Given the description of an element on the screen output the (x, y) to click on. 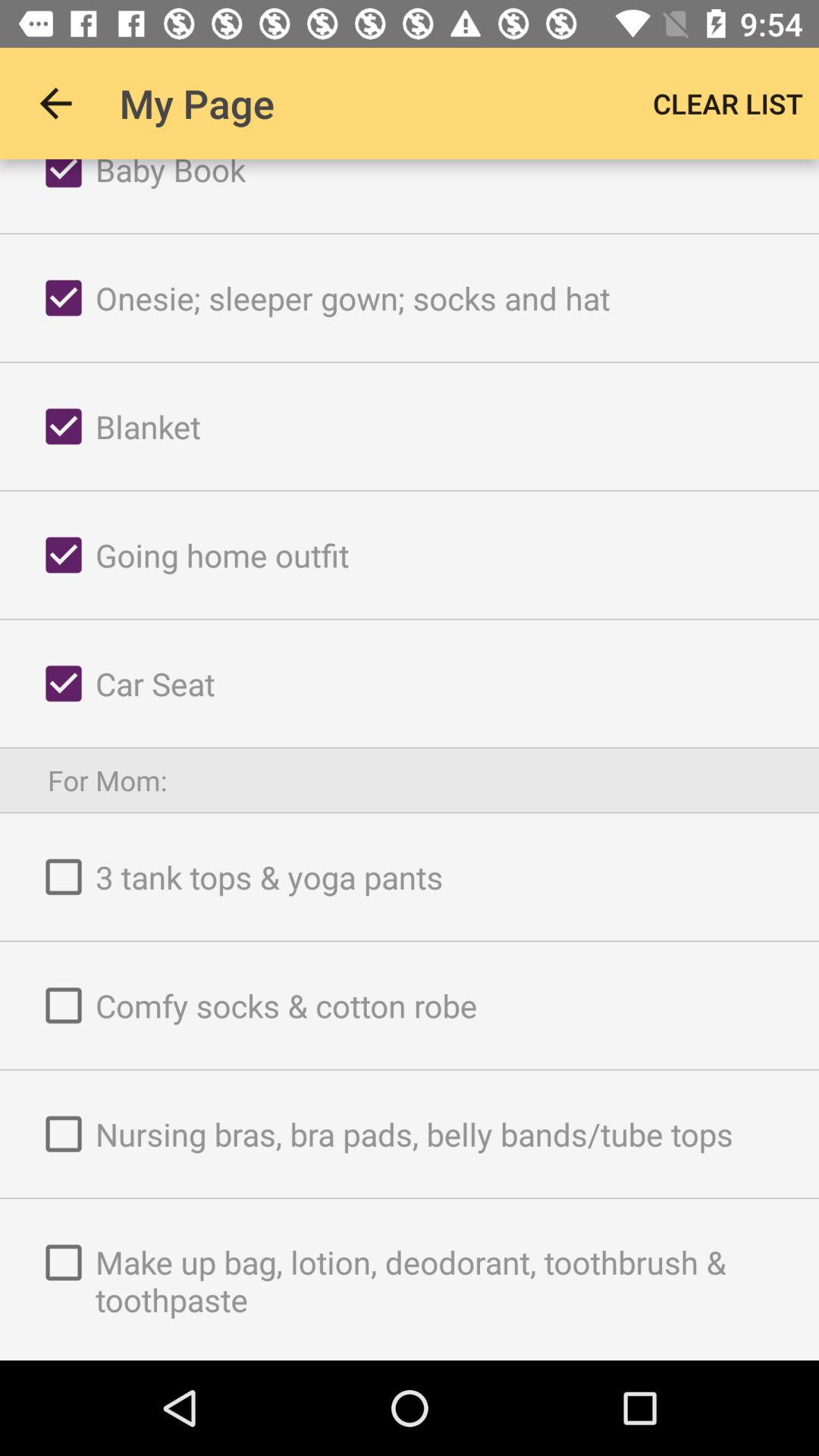
click the icon next to my page app (55, 103)
